Given the description of an element on the screen output the (x, y) to click on. 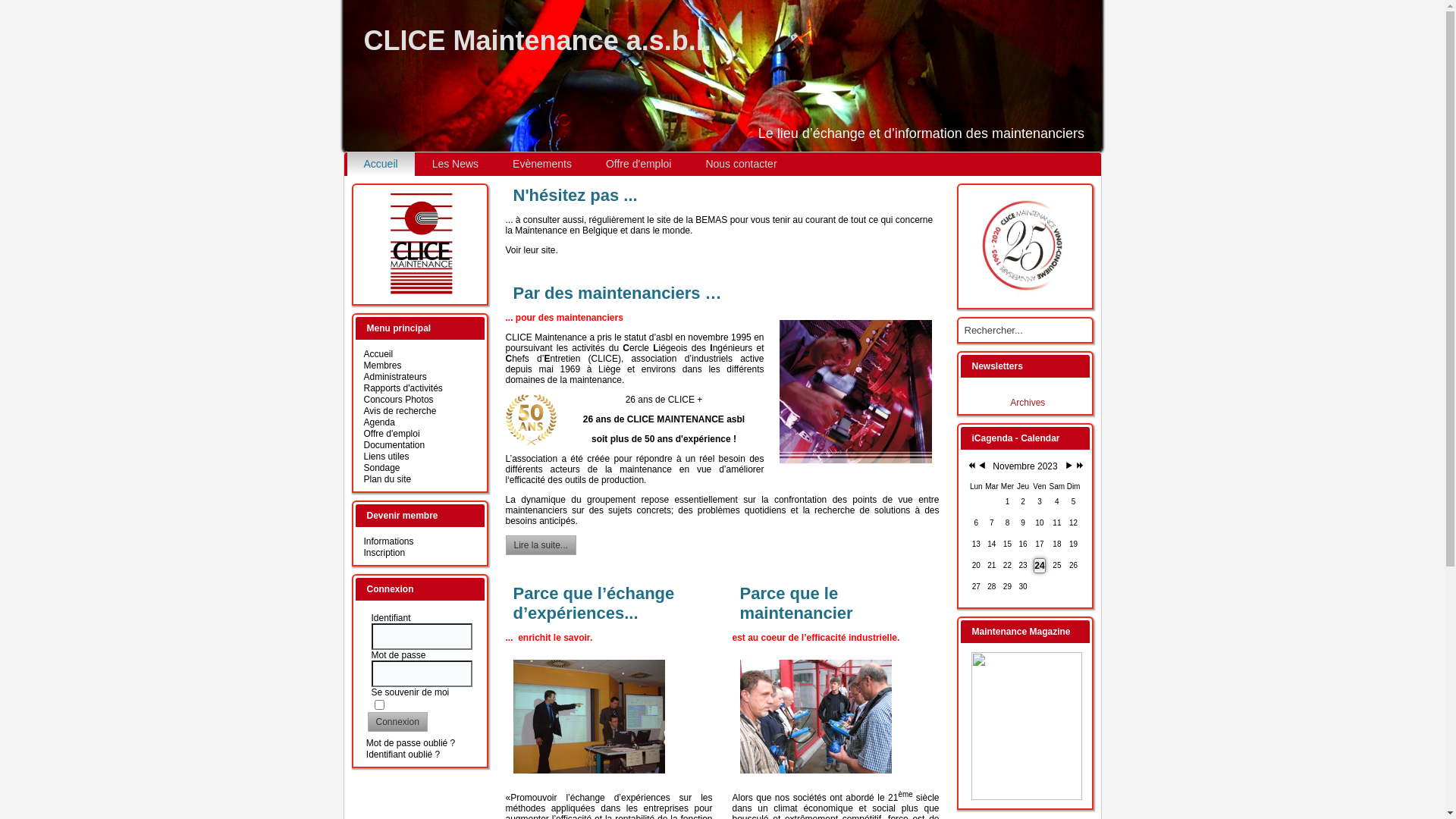
Agenda Element type: text (379, 422)
Offre d'emploi Element type: text (638, 163)
Nous contacter Element type: text (740, 163)
Liens utiles Element type: text (386, 456)
Informations Element type: text (389, 541)
Accueil Element type: text (378, 353)
Offre d'emploi Element type: text (392, 433)
Concours Photos Element type: text (398, 399)
Les News Element type: text (455, 163)
Archives Element type: text (1027, 402)
Connexion Element type: text (396, 721)
Documentation Element type: text (394, 444)
CLICE Maintenance a.s.b.l. Element type: text (537, 40)
Lire la suite... Element type: text (540, 545)
Inscription Element type: text (384, 552)
Avis de recherche Element type: text (400, 410)
Next Year Element type: text (1078, 466)
Accueil Element type: text (380, 163)
Sondage Element type: text (382, 467)
Membres Element type: text (382, 365)
Next Month Element type: text (1068, 466)
Administrateurs Element type: text (395, 376)
Plan du site Element type: text (387, 478)
Previous Month Element type: text (980, 466)
Voir leur site. Element type: text (531, 249)
Previous Year Element type: text (969, 466)
